Given the description of an element on the screen output the (x, y) to click on. 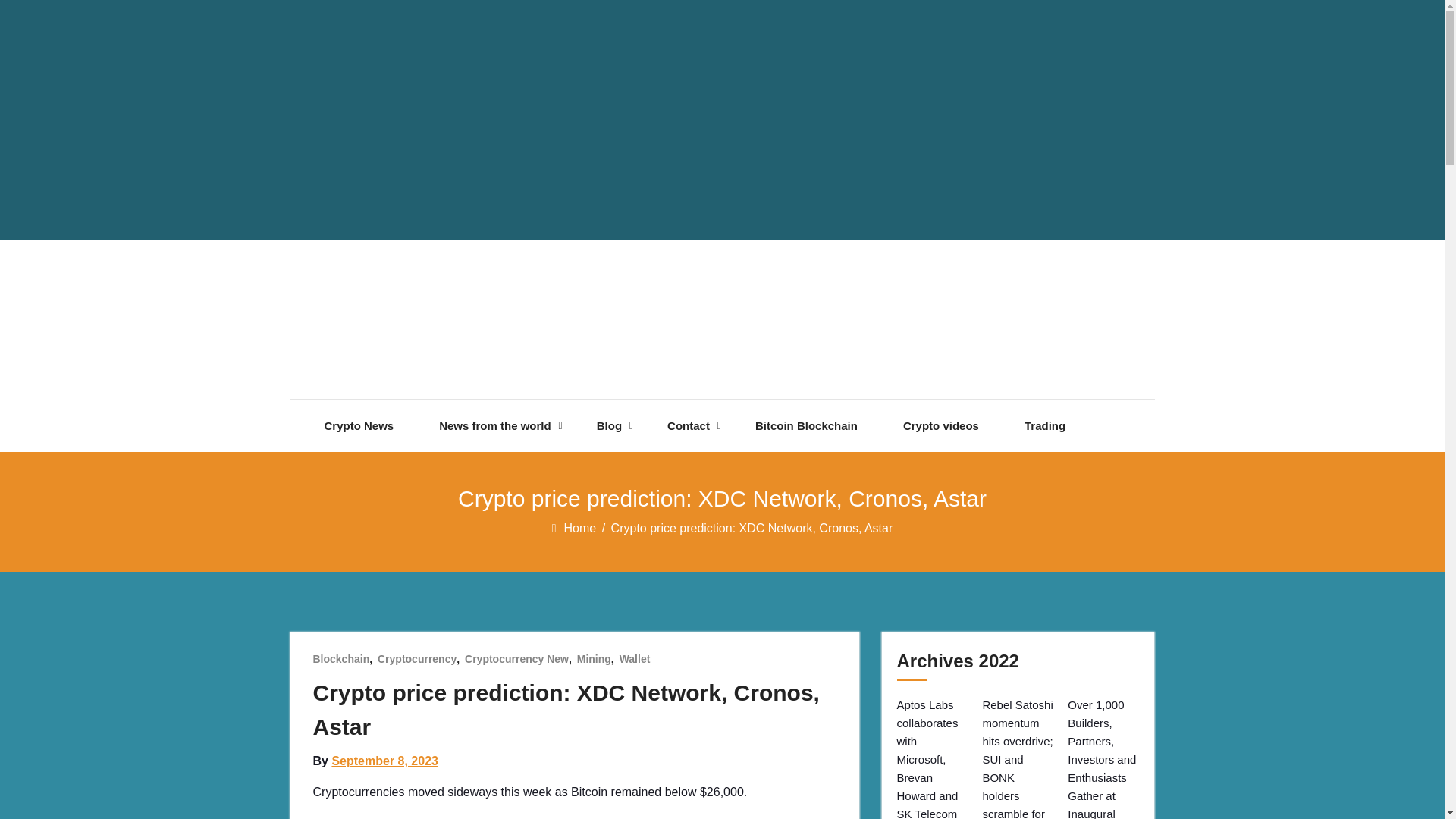
Home (581, 527)
Wallet (635, 658)
Crypto News (359, 425)
News from the world (495, 425)
Mining (593, 658)
September 8, 2023 (384, 760)
Blockchain (341, 658)
Trading (1045, 425)
Blog (608, 425)
Bitcoin Blockchain (806, 425)
Contact (688, 425)
Cryptocurrency New (516, 658)
Cryptocurrency (417, 658)
Crypto videos (940, 425)
